Given the description of an element on the screen output the (x, y) to click on. 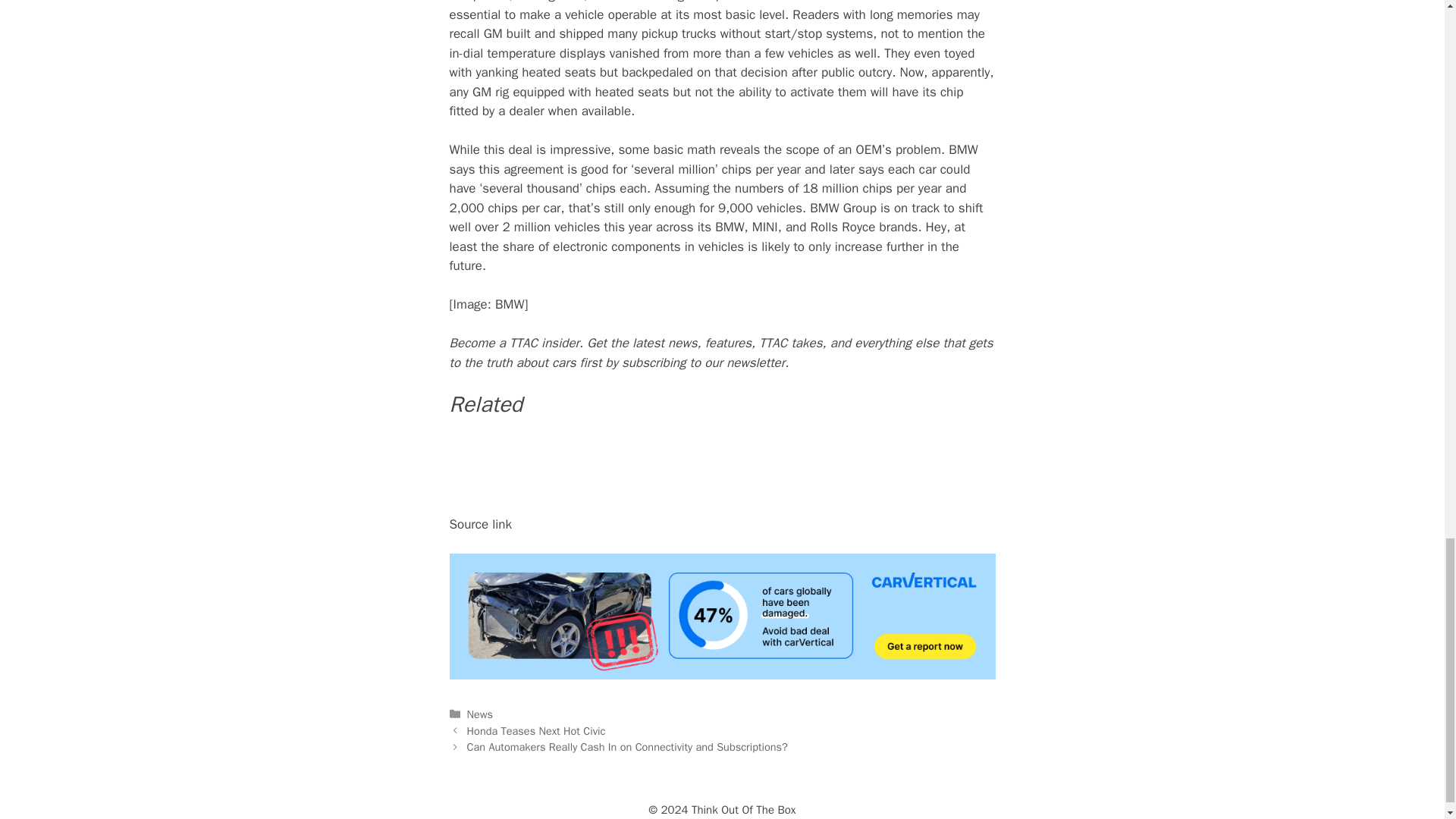
subscribing to our newsletter (702, 362)
Source link (480, 524)
News (480, 714)
Honda Teases Next Hot Civic (536, 730)
